Given the description of an element on the screen output the (x, y) to click on. 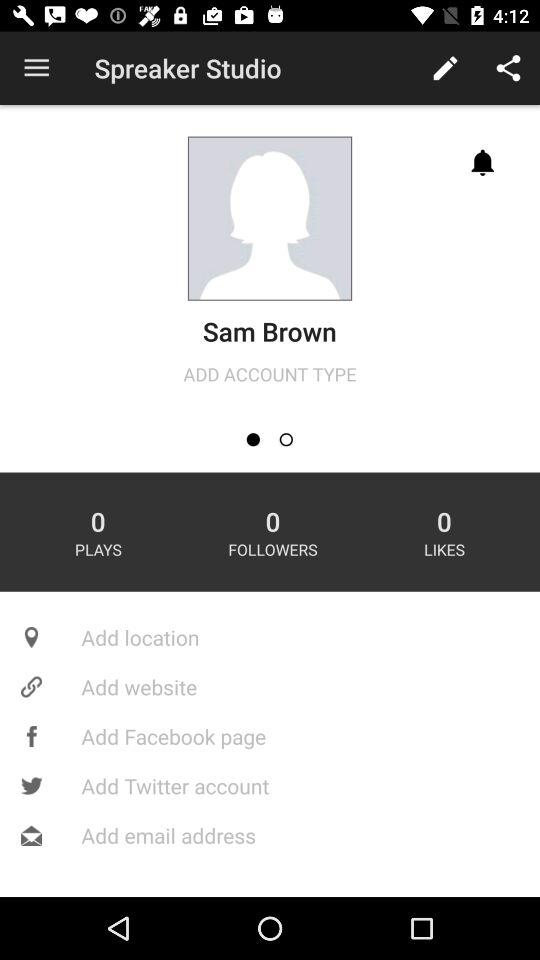
jump until add website icon (270, 686)
